Given the description of an element on the screen output the (x, y) to click on. 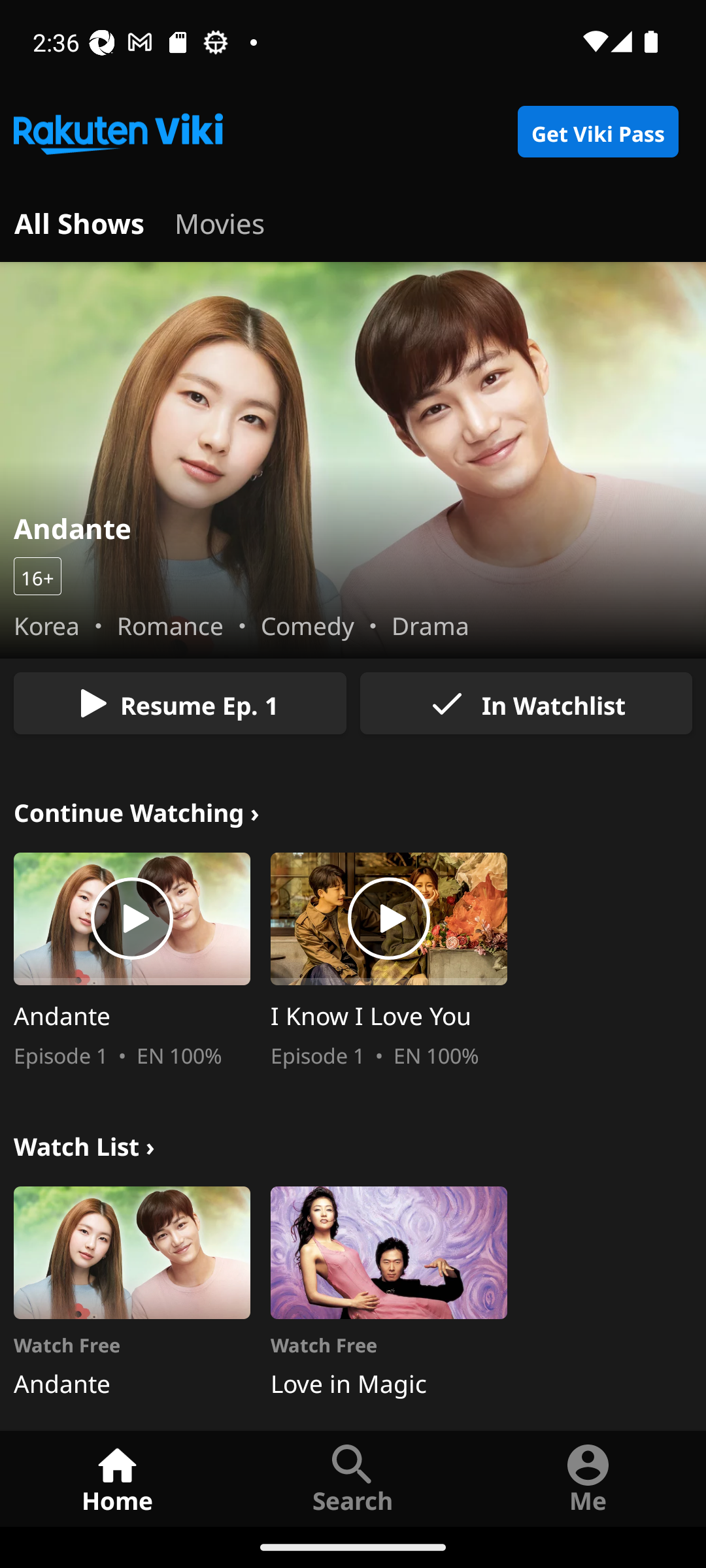
Get Viki Pass (597, 131)
home_tab_movies Movies (219, 220)
Resume Ep. 1 home_billboard_play_button (179, 702)
In Watchlist home_billboard_in_watchlist_button (526, 702)
Continue Watching › continue_watching (136, 809)
Watch List › watch_list (84, 1143)
Search (352, 1478)
Me (588, 1478)
